Given the description of an element on the screen output the (x, y) to click on. 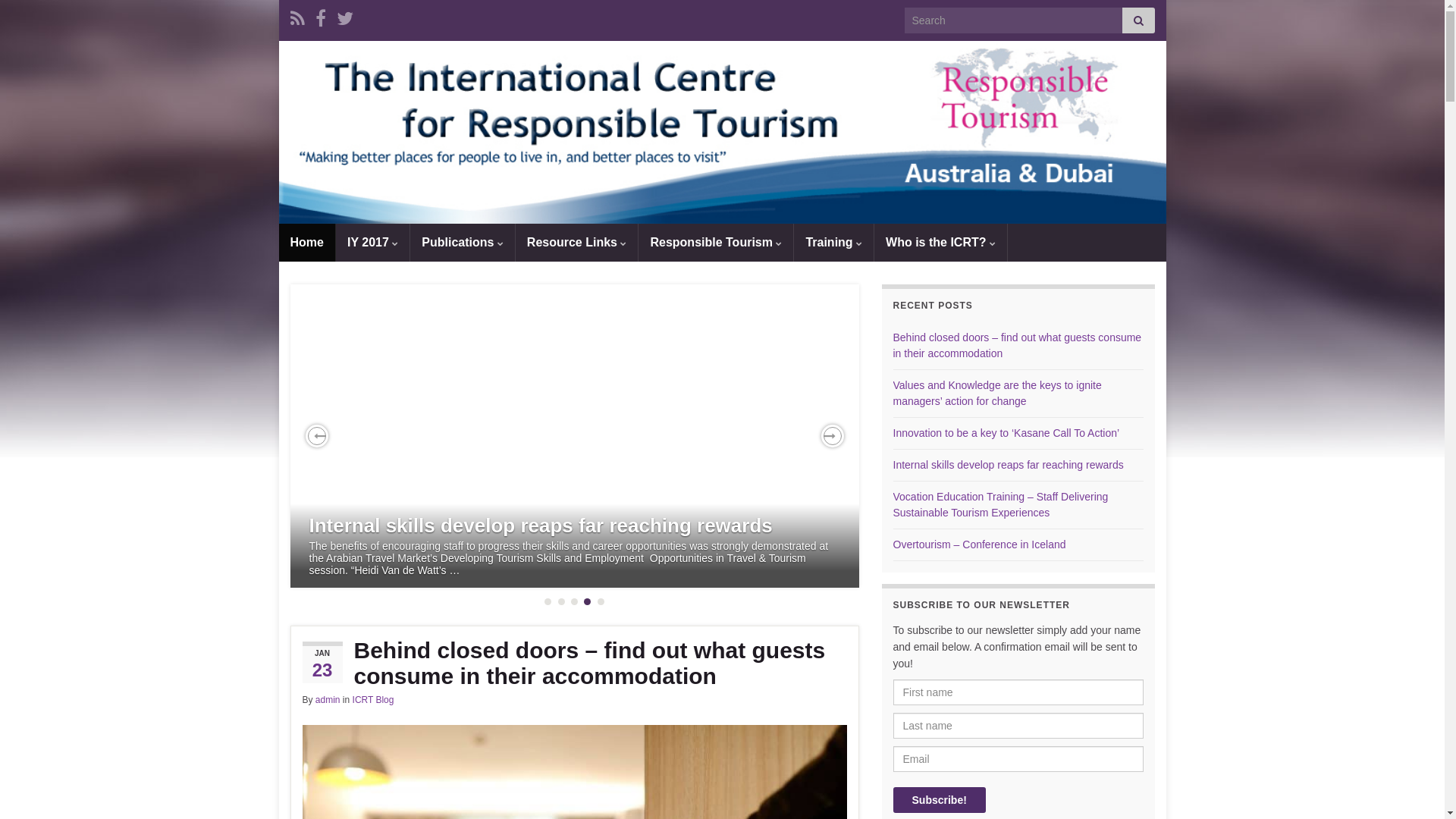
Twitter Element type: hover (344, 16)
Publications Element type: text (462, 242)
IY 2017 Element type: text (372, 242)
Who is the ICRT? Element type: text (940, 242)
ICRT Blog Element type: text (373, 699)
Previous Element type: text (315, 435)
Email Element type: hover (1018, 758)
Internal skills develop reaps far reaching rewards Element type: text (1008, 464)
admin Element type: text (327, 699)
Facebook Element type: hover (320, 16)
Next Element type: text (831, 435)
Responsible Tourism Element type: text (715, 242)
First name Element type: hover (1018, 692)
View post Element type: hover (573, 435)
Training Element type: text (833, 242)
Home Element type: text (307, 242)
Subscribe! Element type: text (939, 799)
Resource Links Element type: text (576, 242)
Last name Element type: hover (1018, 725)
